Given the description of an element on the screen output the (x, y) to click on. 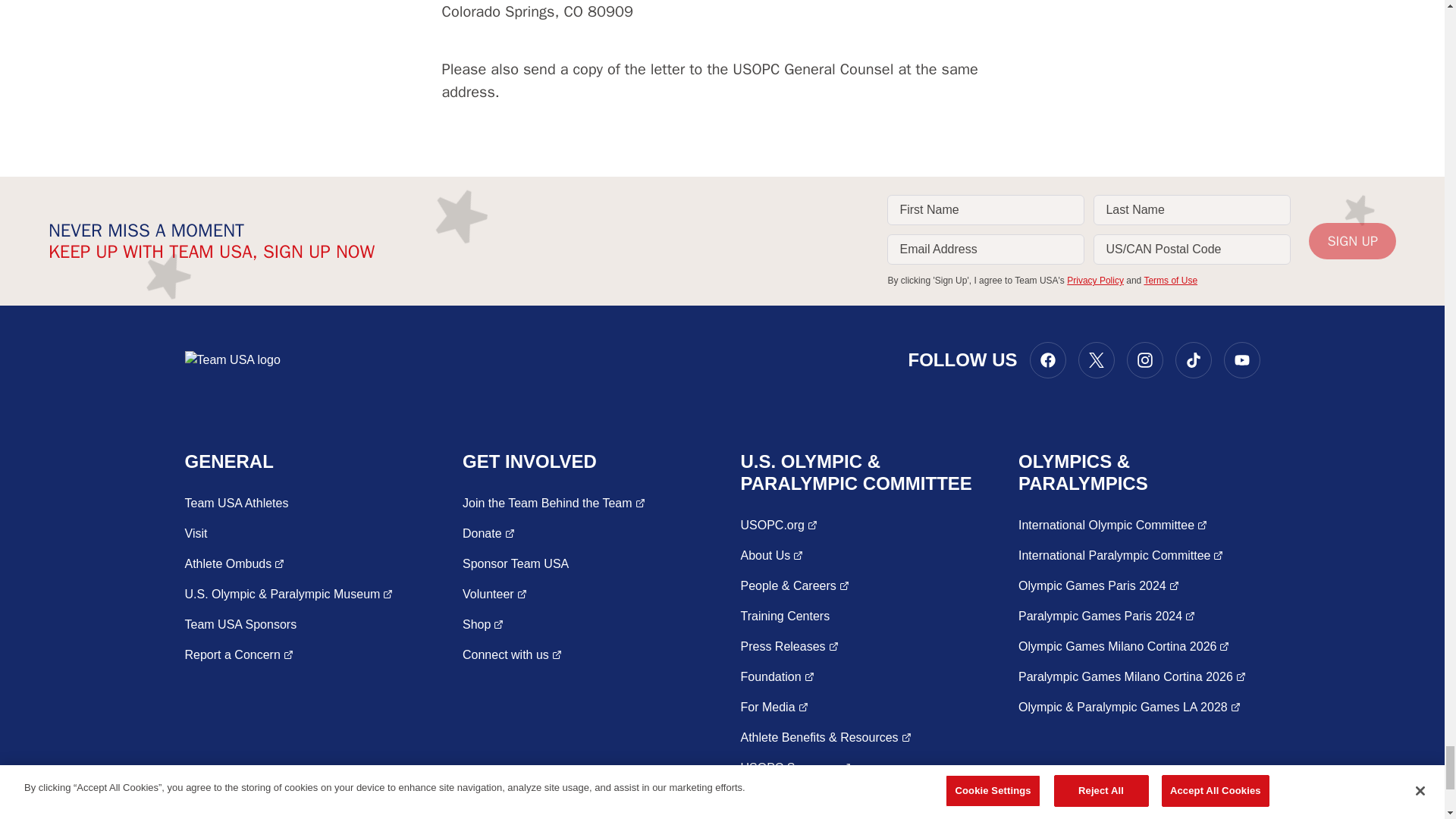
Privacy Policy (1095, 280)
First Name (985, 209)
Terms of Use (1169, 280)
Last Name (1191, 209)
SIGN UP (1352, 240)
